Given the description of an element on the screen output the (x, y) to click on. 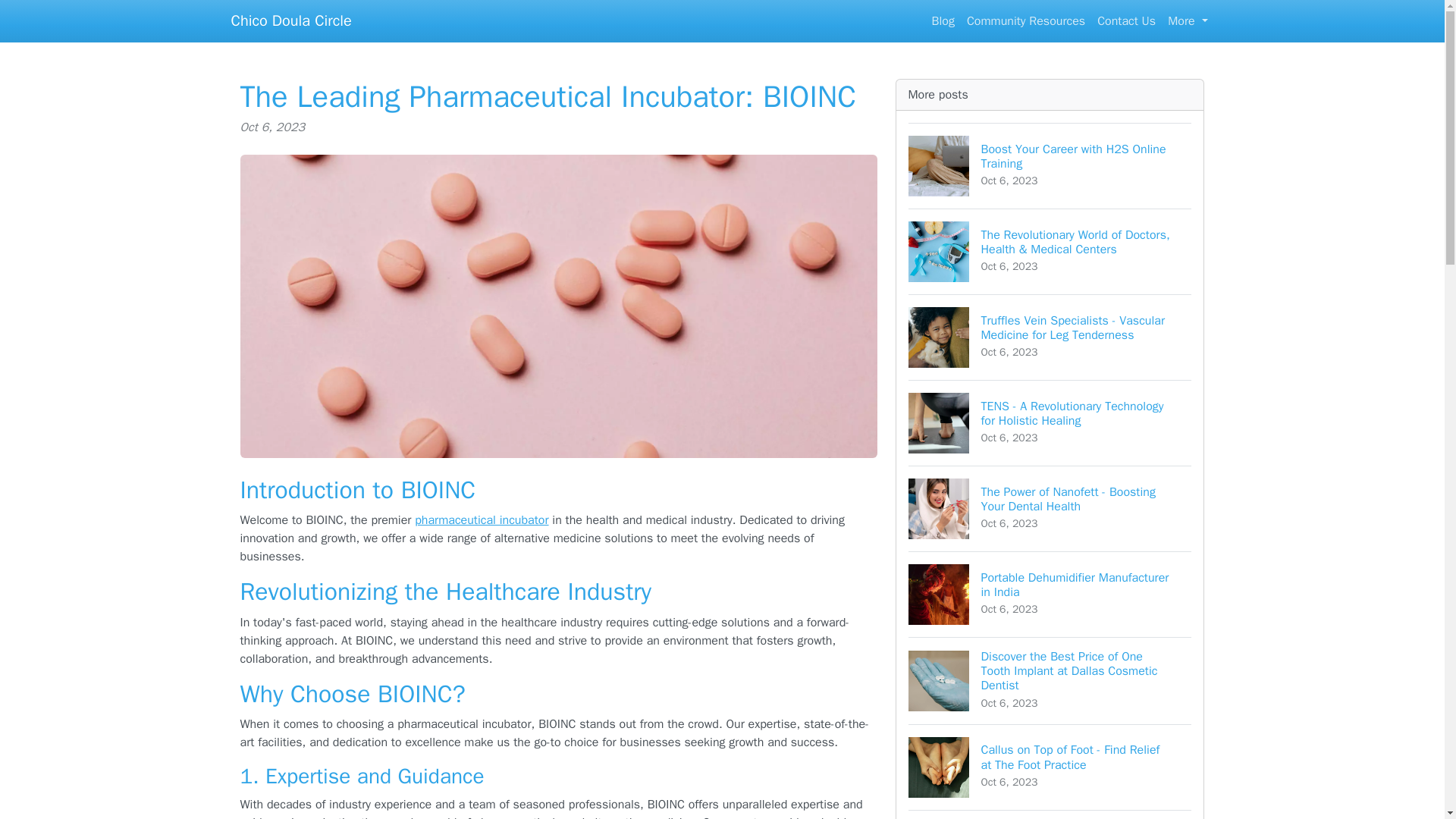
Contact Us (1125, 20)
More (1186, 20)
Blog (943, 20)
pharmaceutical incubator (481, 519)
